Given the description of an element on the screen output the (x, y) to click on. 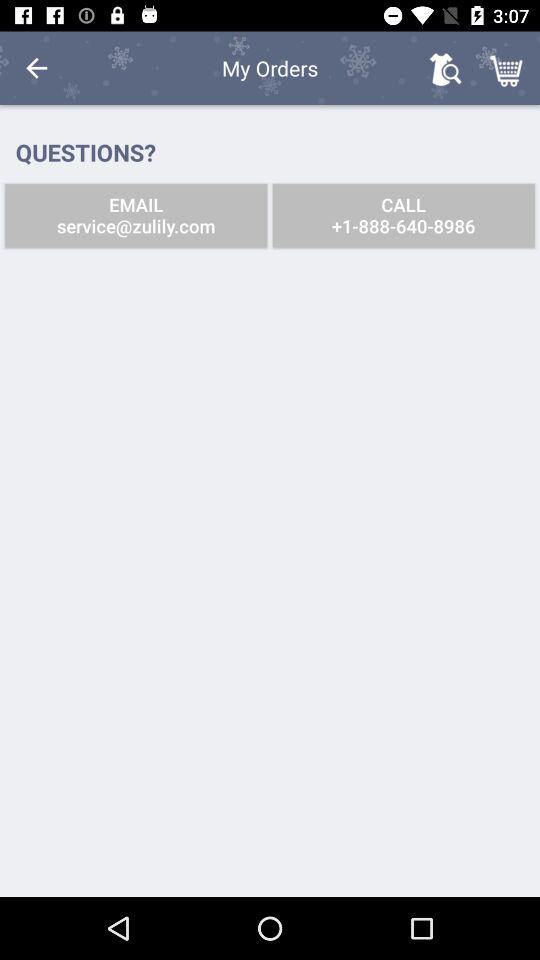
click the item next to the call 1 888 item (136, 215)
